Given the description of an element on the screen output the (x, y) to click on. 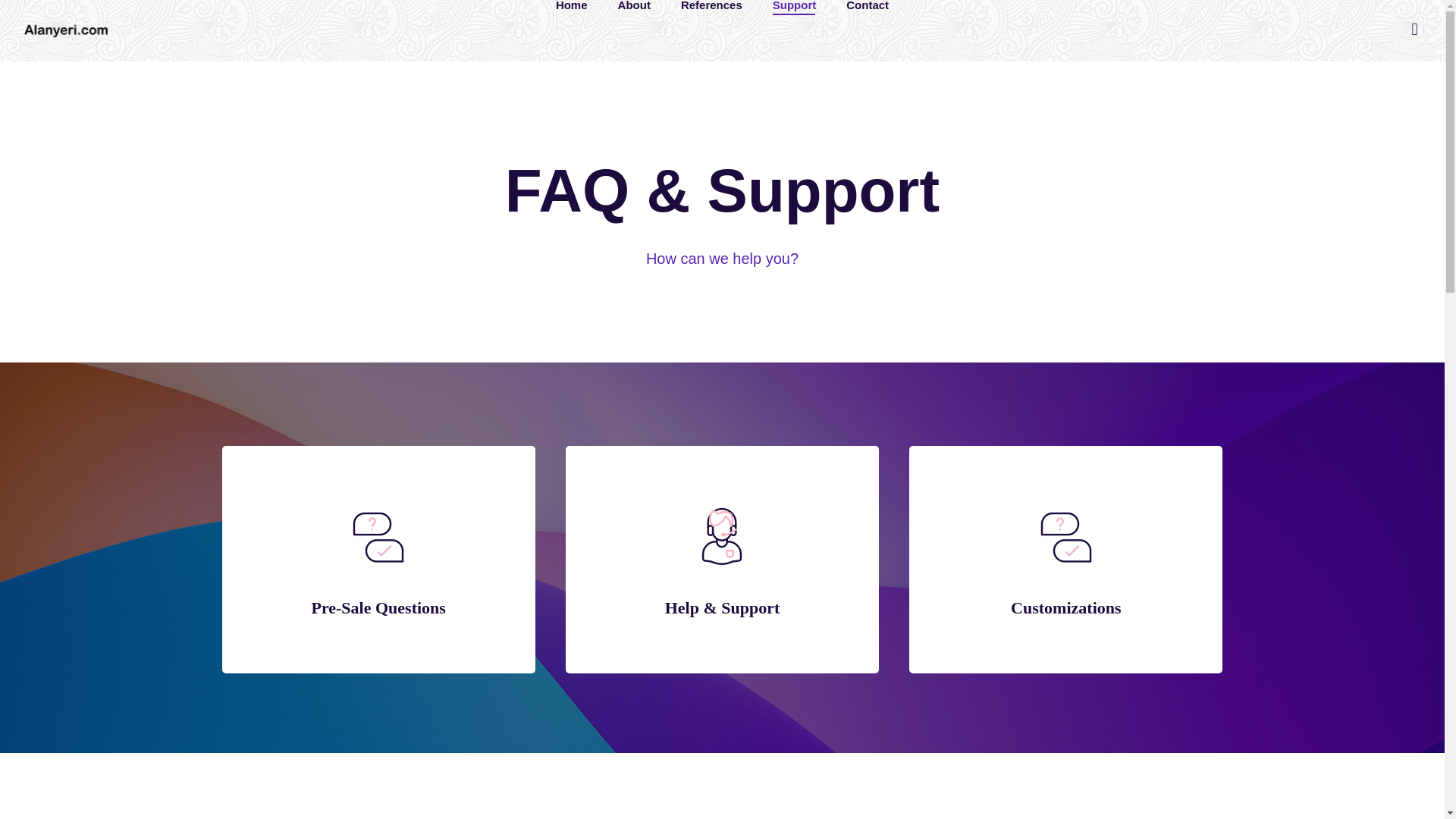
Contact US (1065, 611)
References (711, 4)
Contact (866, 4)
Home (572, 4)
Support (794, 4)
Contact us (378, 641)
Support Login (1065, 714)
Search (25, 11)
Alanyeri.com (66, 30)
Contact US (378, 620)
About (633, 4)
Support Login (722, 673)
Contact US (722, 620)
